Given the description of an element on the screen output the (x, y) to click on. 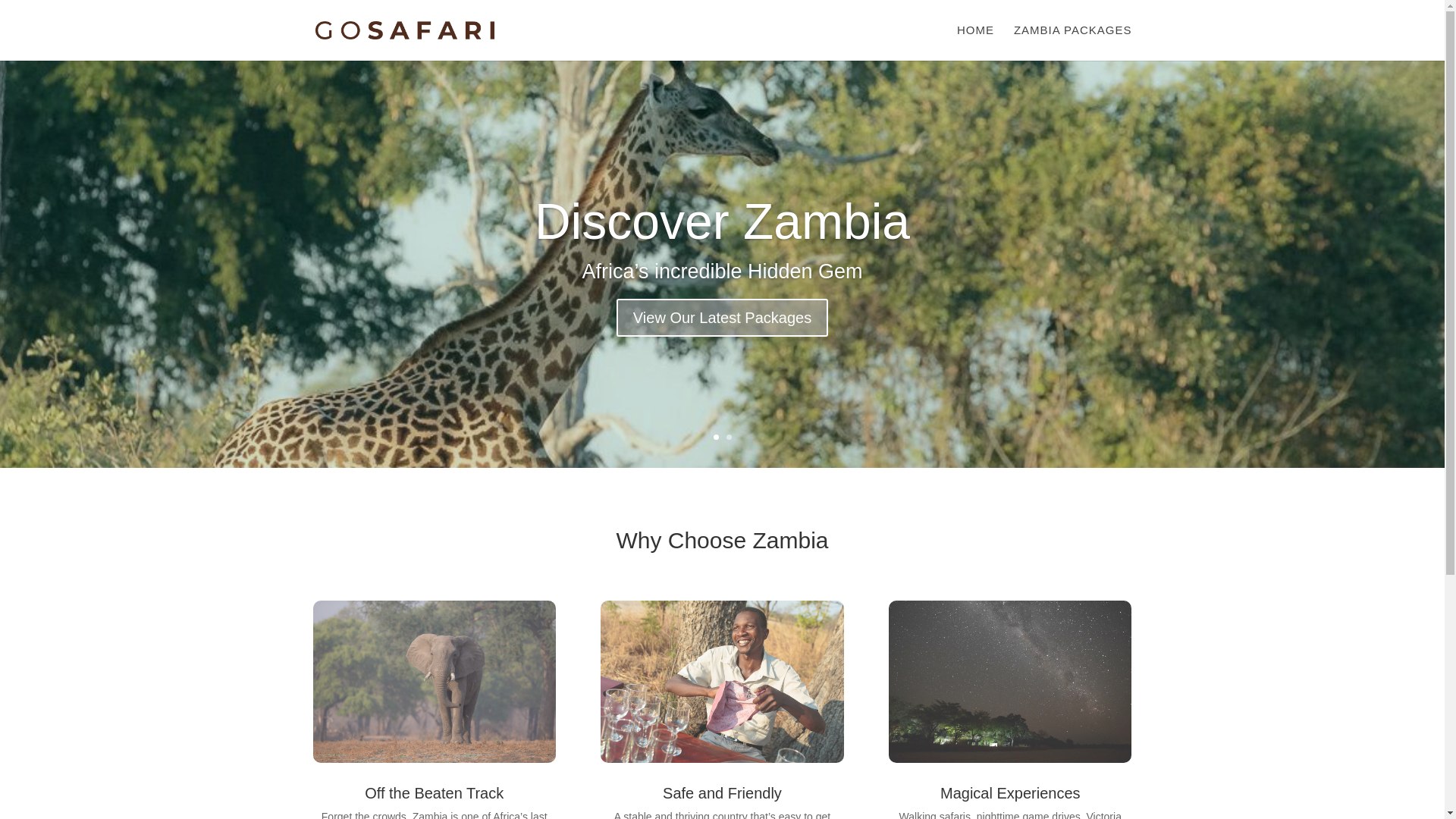
ZAMBIA PACKAGES (1072, 42)
HOME (975, 42)
